Given the description of an element on the screen output the (x, y) to click on. 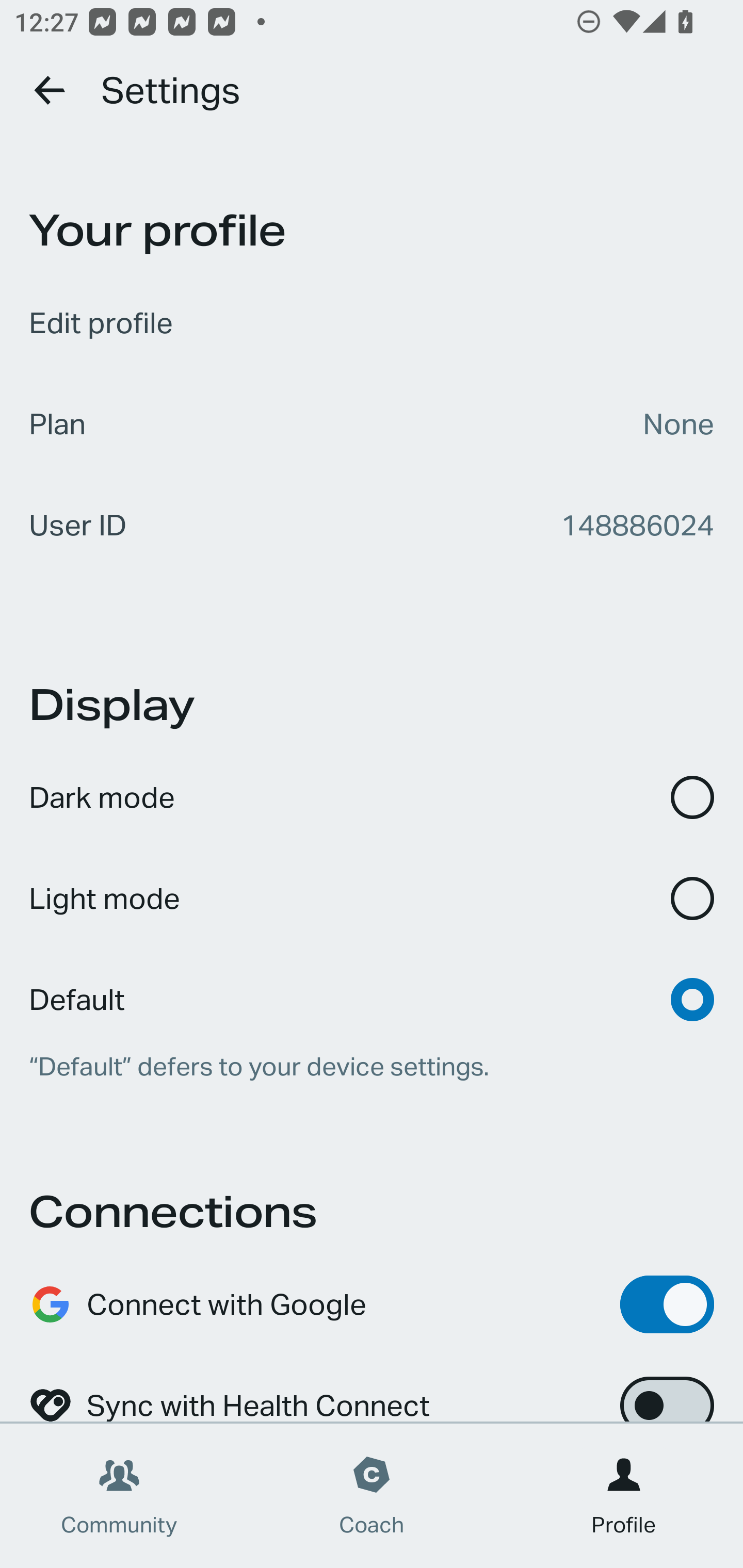
Go back (50, 90)
Edit profile (371, 322)
Plan None (371, 424)
User ID 148886024 (371, 525)
Dark mode (371, 797)
Light mode (371, 898)
Default (371, 985)
“Default” defers to your device settings. (371, 1066)
Connect with Google (371, 1304)
Sync with Health Connect (371, 1388)
Community (119, 1495)
Coach (371, 1495)
